Given the description of an element on the screen output the (x, y) to click on. 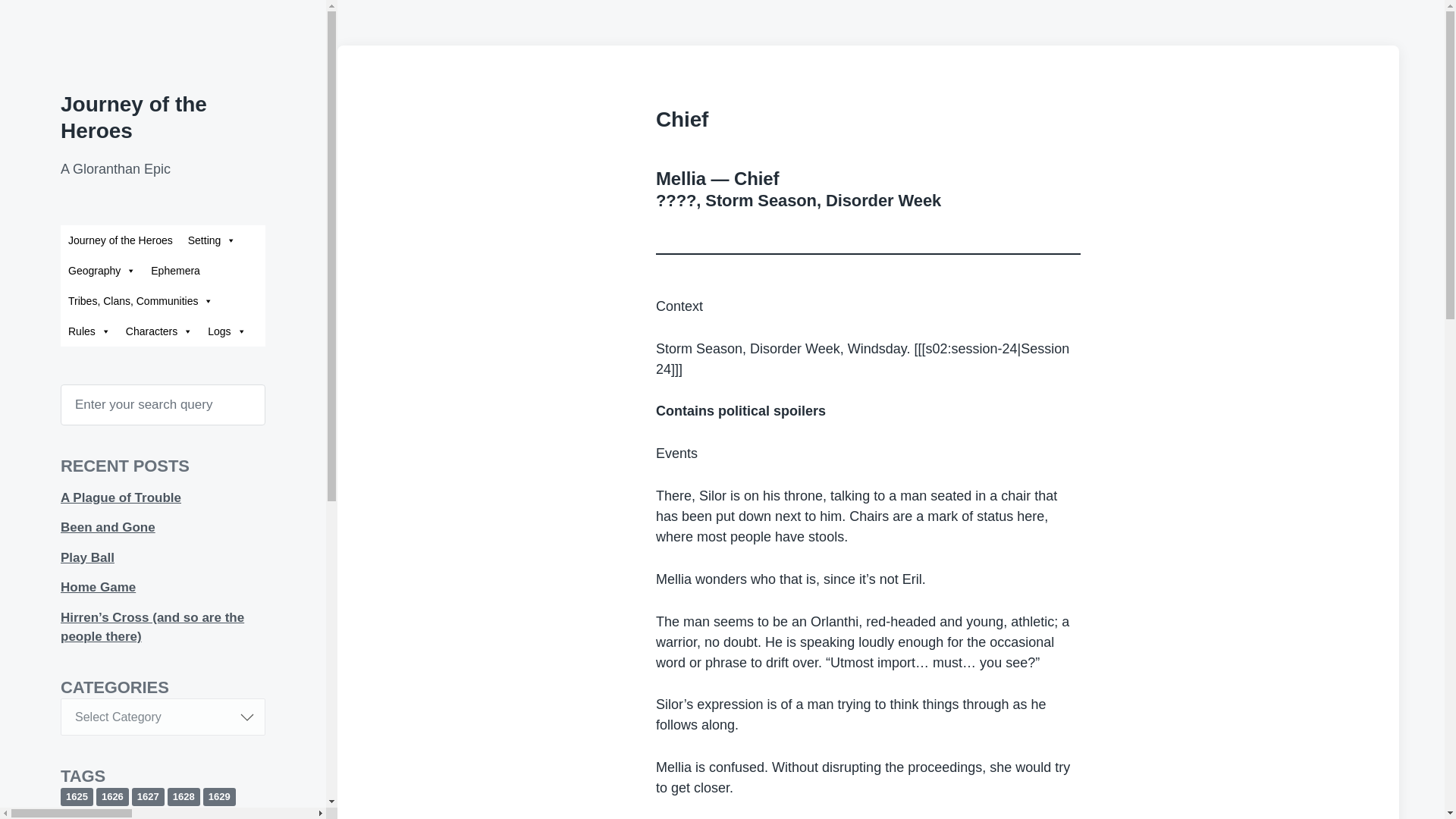
Ephemera (175, 270)
Tribes, Clans, Communities (141, 300)
Journey of the Heroes (133, 117)
Journey of the Heroes (120, 240)
Geography (101, 270)
Rules (89, 331)
Characters (158, 331)
Setting (212, 240)
